Given the description of an element on the screen output the (x, y) to click on. 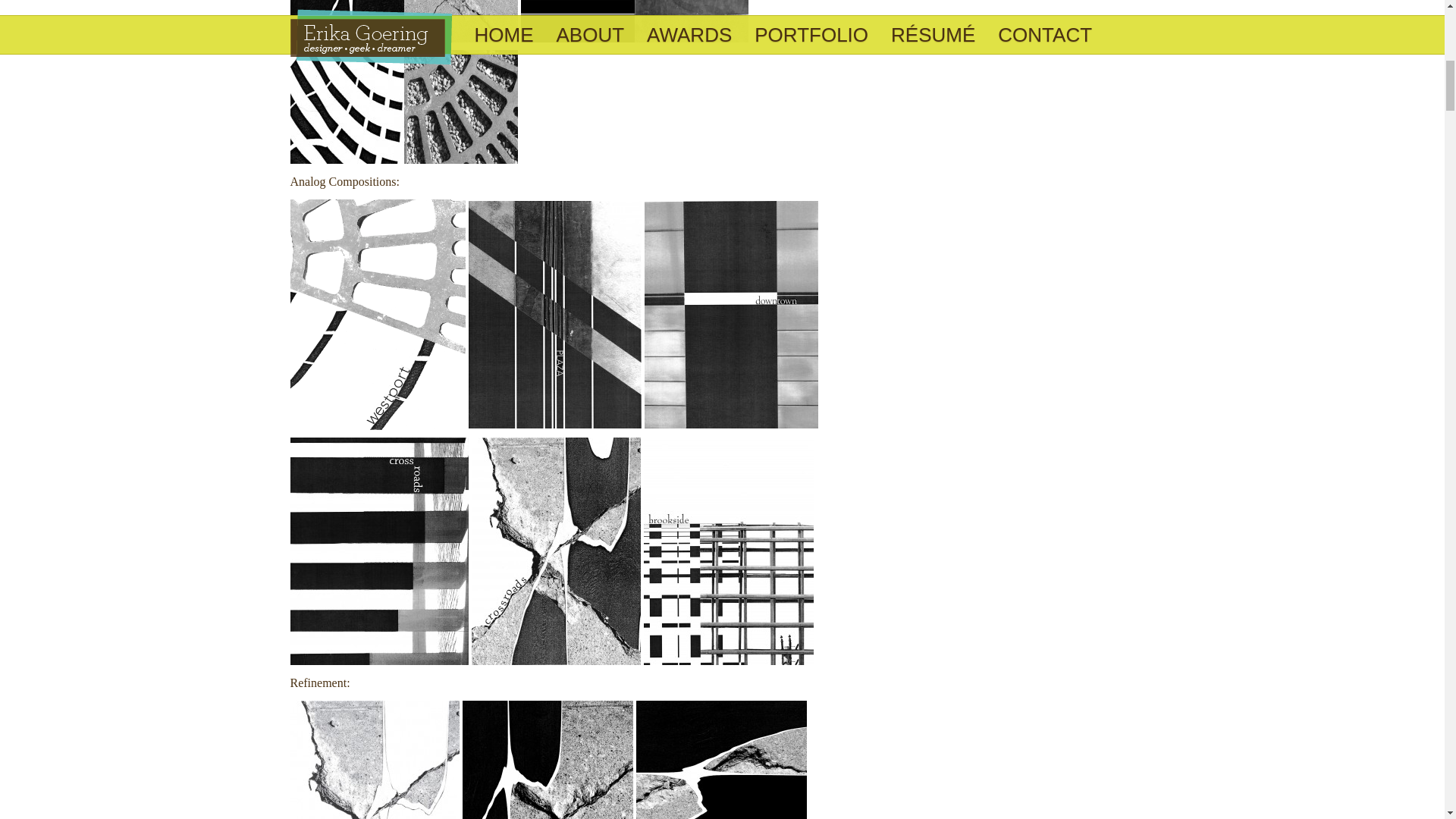
parking-garage-floor (633, 21)
crossroads1 (373, 760)
tree-grate (402, 106)
crack (402, 21)
